Given the description of an element on the screen output the (x, y) to click on. 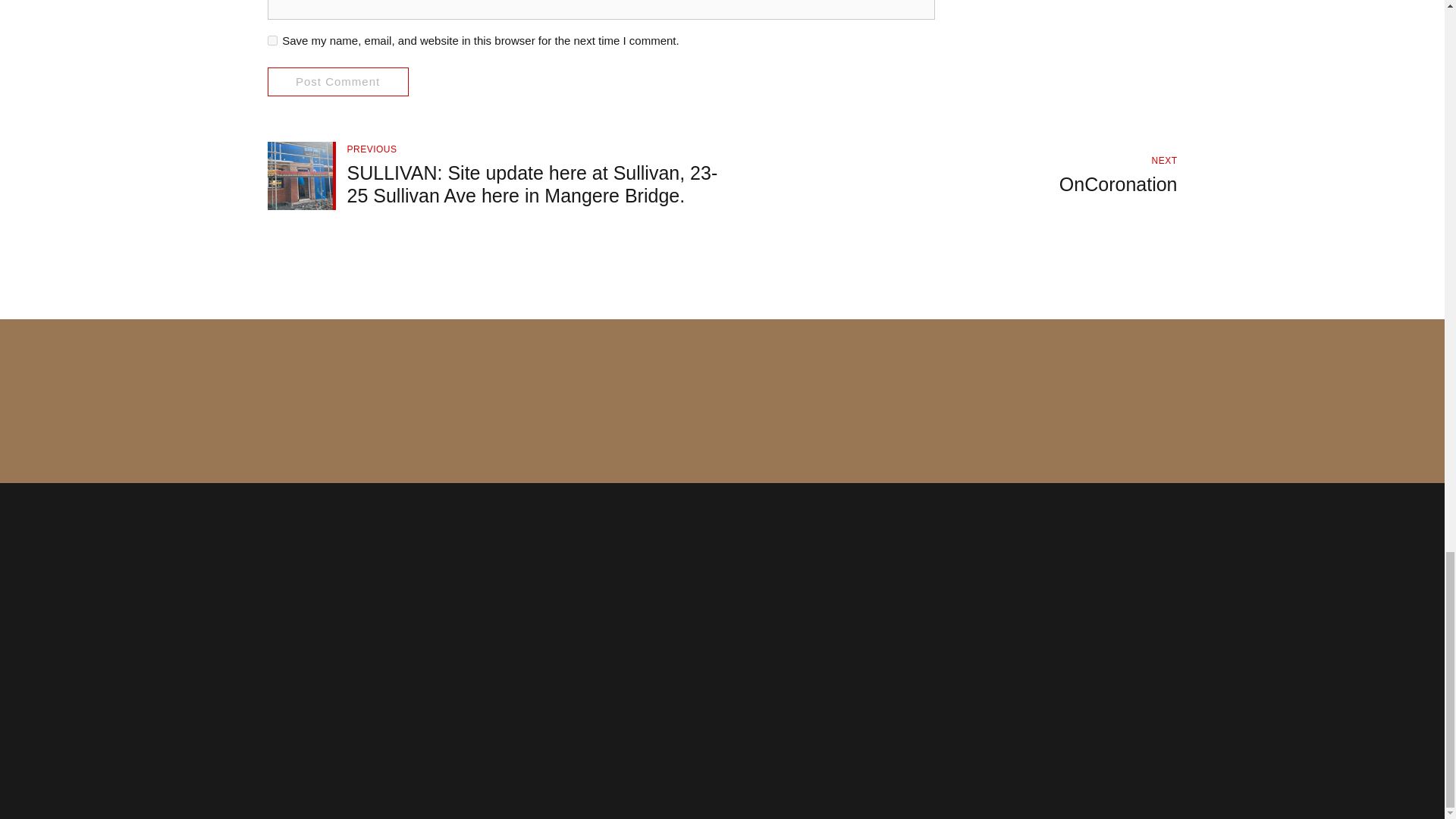
yes (271, 40)
SEND (1129, 415)
Post Comment (949, 175)
